Given the description of an element on the screen output the (x, y) to click on. 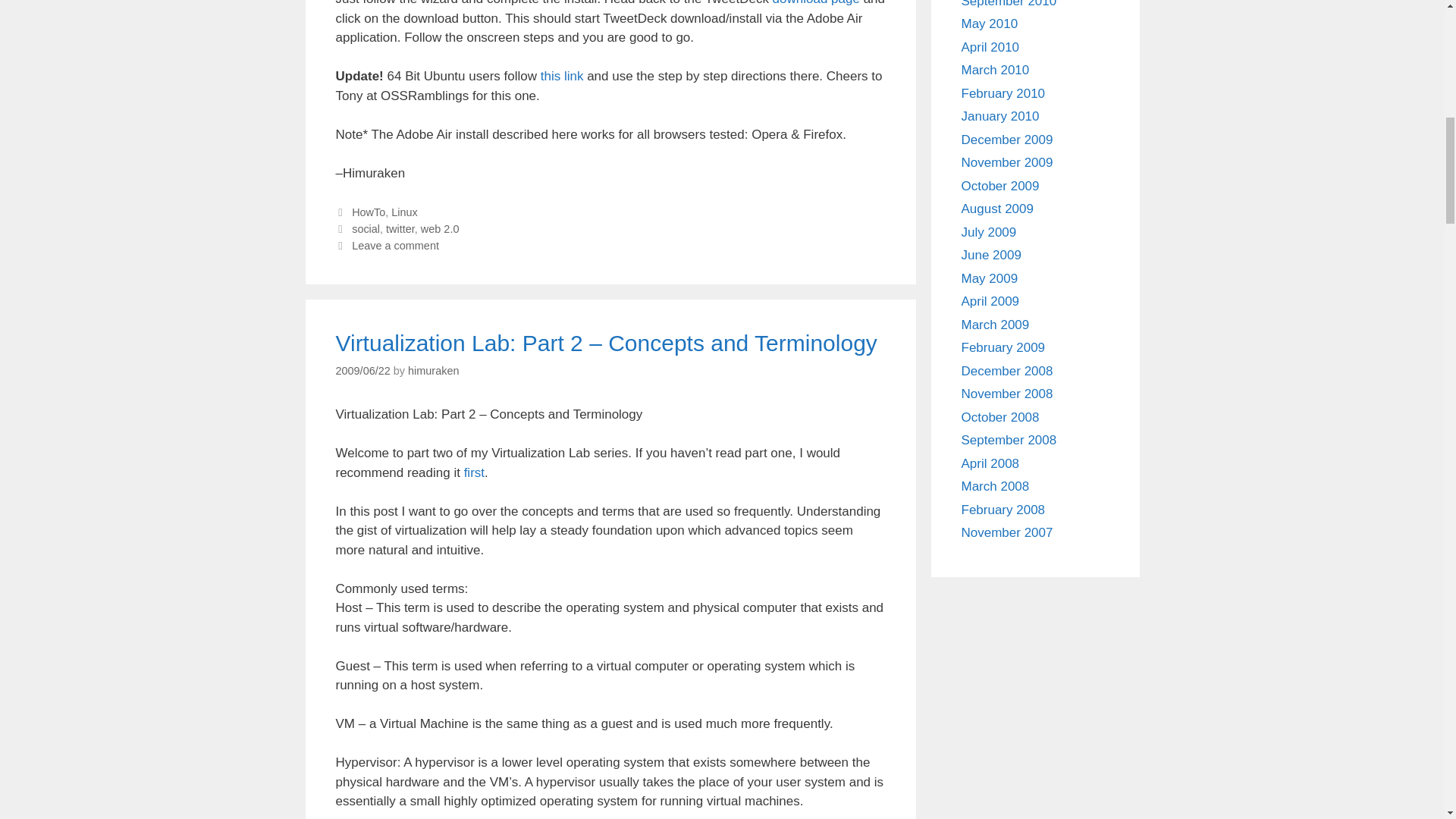
first (474, 472)
social (366, 228)
View all posts by himuraken (432, 370)
himuraken (432, 370)
8:00 am (362, 370)
this link (561, 75)
web 2.0 (440, 228)
Linux (404, 212)
HowTo (368, 212)
twitter (399, 228)
Leave a comment (395, 245)
download page (816, 2)
